Given the description of an element on the screen output the (x, y) to click on. 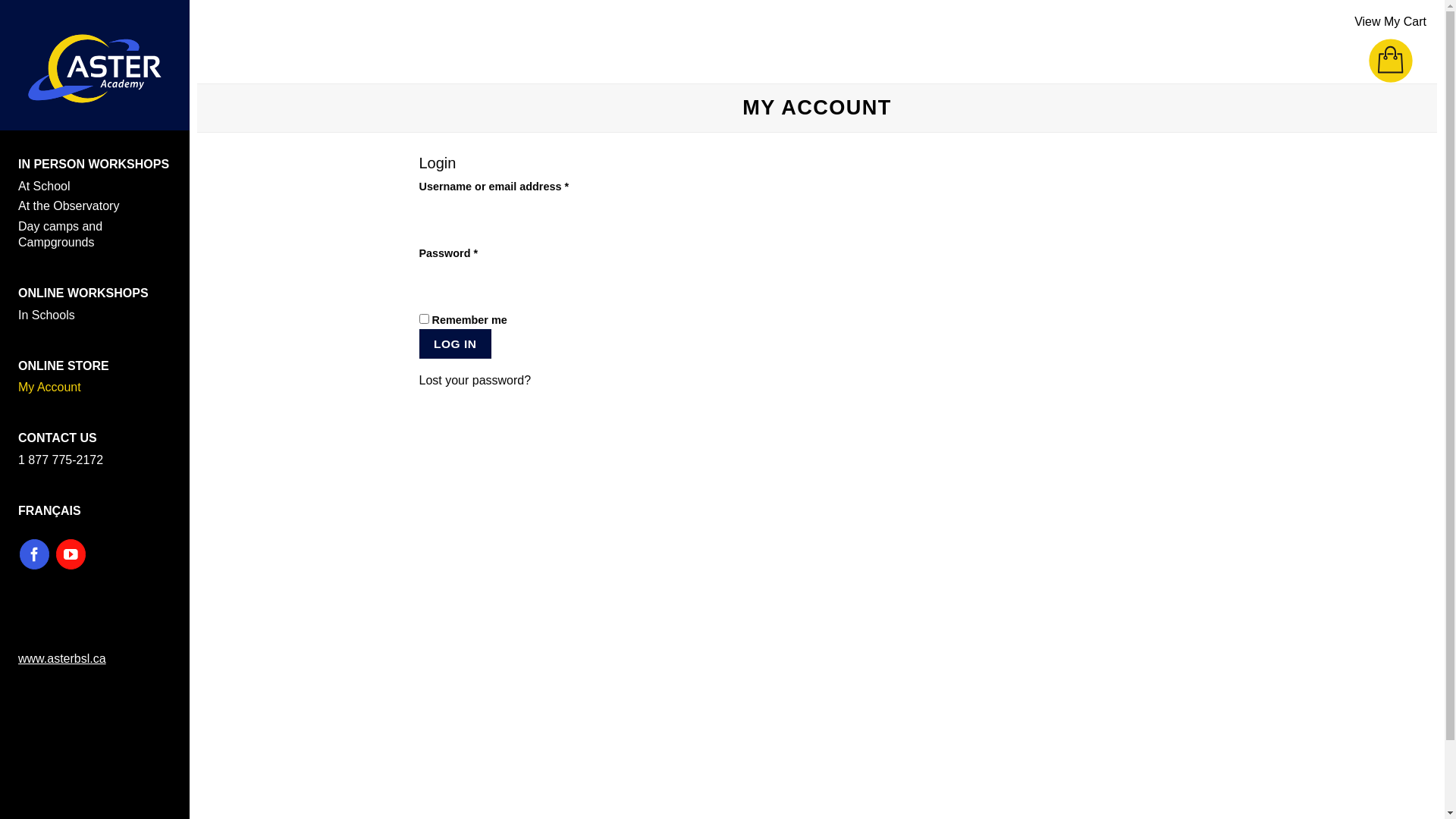
In Schools Element type: text (94, 315)
Day camps and Campgrounds Element type: text (94, 235)
CONTACT US Element type: text (57, 437)
Lost your password? Element type: text (474, 379)
www.asterbsl.ca Element type: text (62, 658)
1 877 775-2172 Element type: text (94, 460)
At School Element type: text (94, 186)
ONLINE WORKSHOPS Element type: text (83, 292)
ONLINE STORE Element type: text (63, 365)
View My Cart Element type: text (1390, 38)
LOG IN Element type: text (454, 343)
My Account Element type: text (94, 387)
At the Observatory Element type: text (94, 206)
IN PERSON WORKSHOPS Element type: text (93, 163)
